Given the description of an element on the screen output the (x, y) to click on. 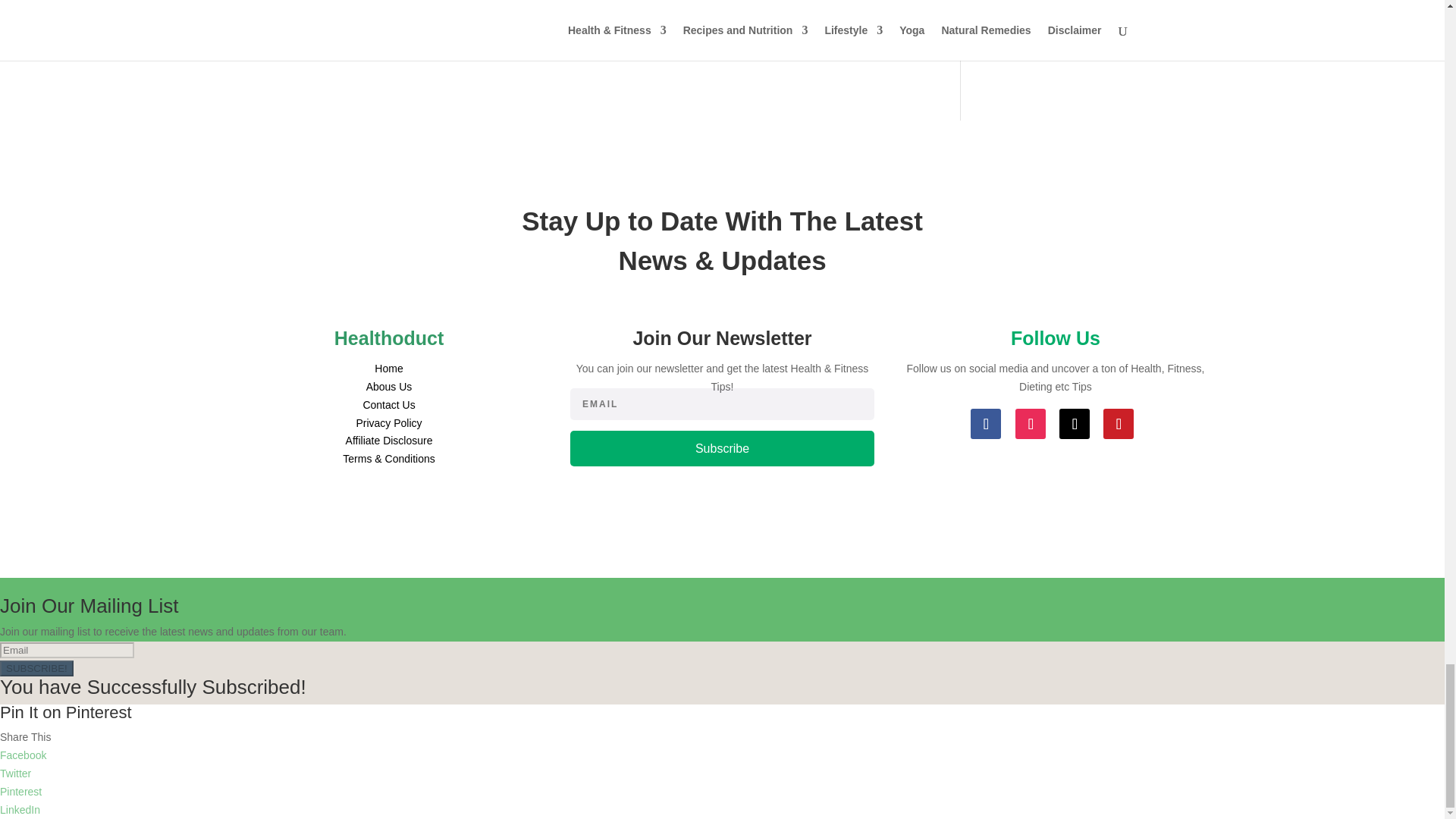
Follow on X (1074, 423)
Follow on Facebook (986, 423)
Follow on Pinterest (1118, 423)
Follow on Instagram (1029, 423)
